Given the description of an element on the screen output the (x, y) to click on. 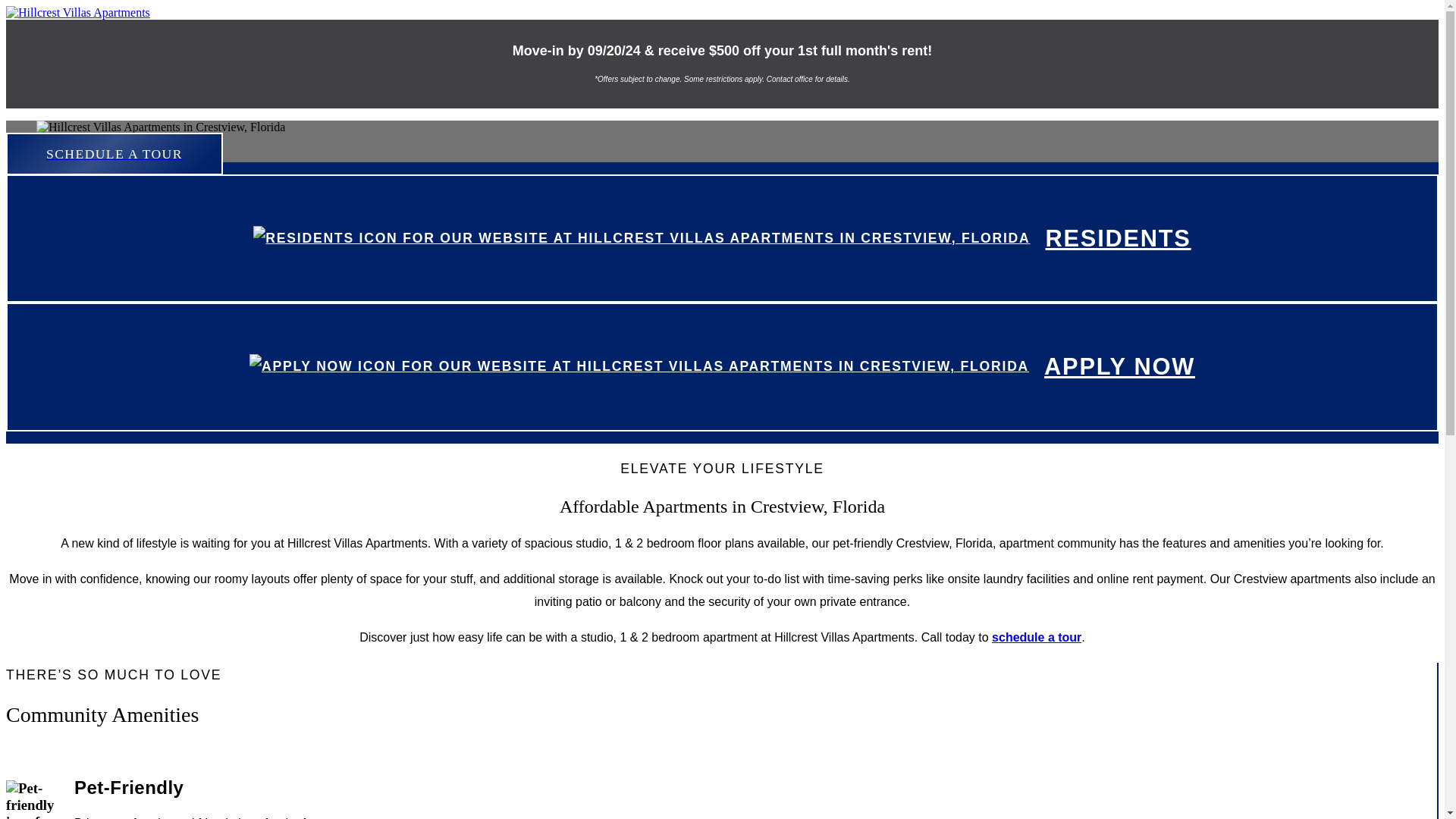
SCHEDULE A TOUR (113, 154)
RESIDENTS (1118, 238)
APPLY NOW (1119, 366)
schedule a tour (1036, 636)
